Given the description of an element on the screen output the (x, y) to click on. 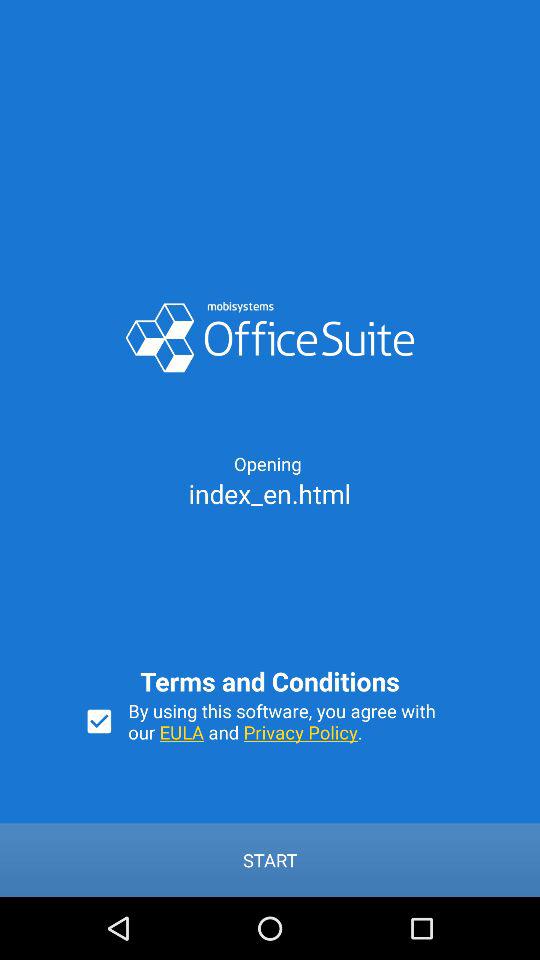
jump to by using this (292, 721)
